Given the description of an element on the screen output the (x, y) to click on. 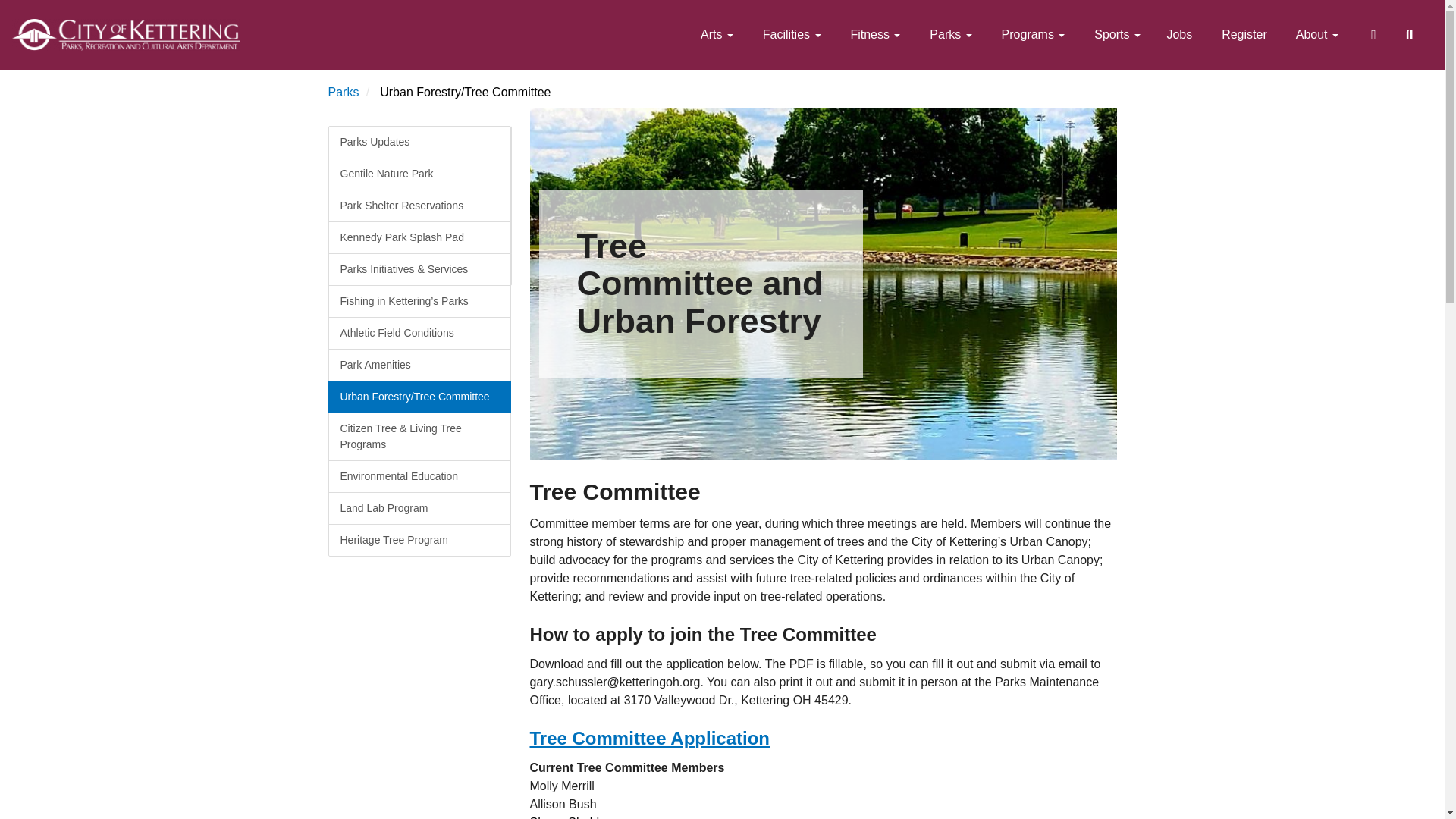
 Parks (949, 34)
Home (125, 34)
Facilities (789, 34)
 Facilities (789, 34)
Home (125, 34)
 Fitness (873, 34)
 Sports (1115, 34)
Arts (714, 34)
 Programs (1031, 34)
 Arts (714, 34)
